Given the description of an element on the screen output the (x, y) to click on. 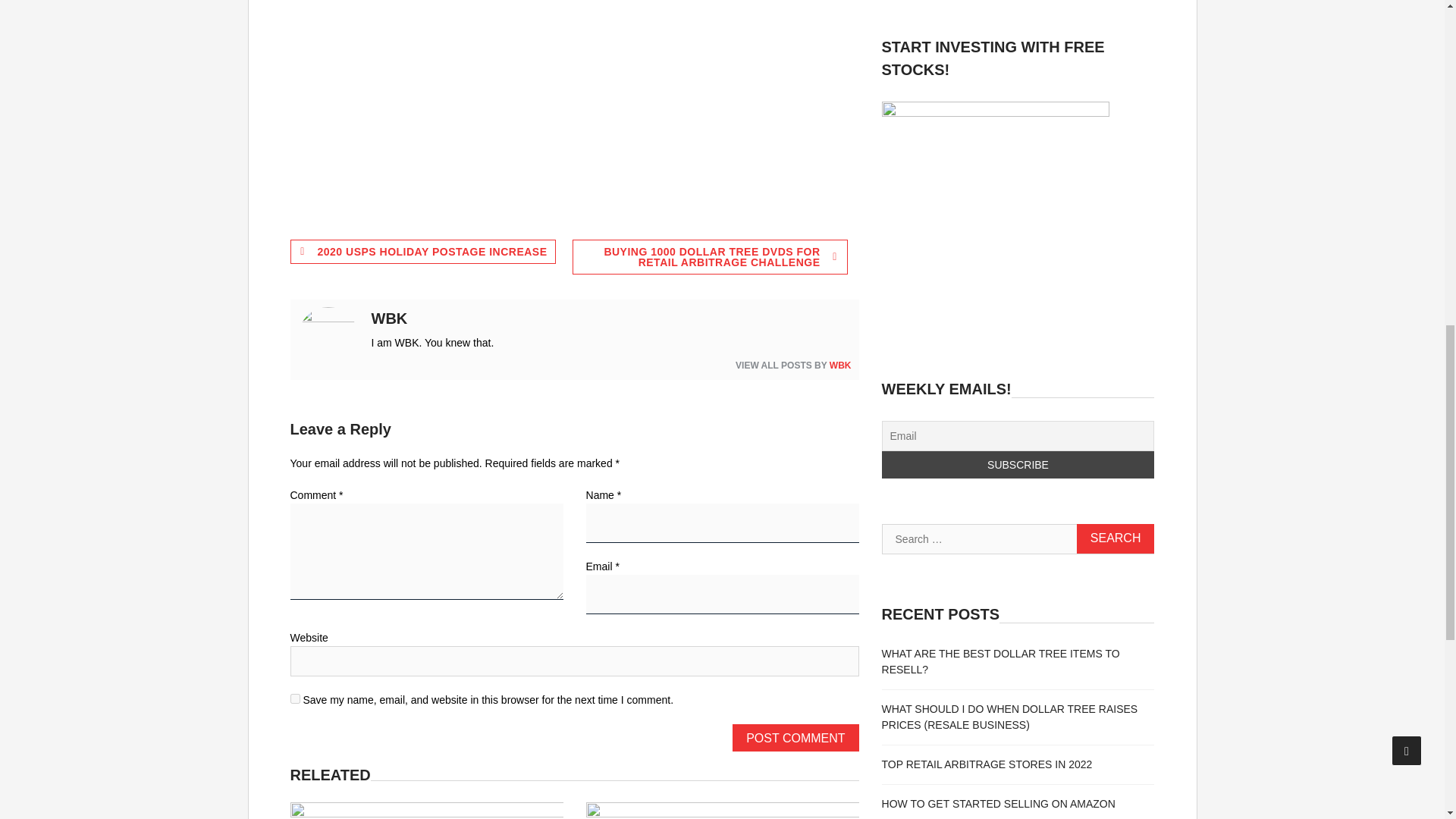
Search (1115, 538)
yes (294, 698)
Post Comment (795, 737)
Post Comment (795, 737)
WBK (840, 365)
Search (1115, 538)
WHAT ARE THE BEST DOLLAR TREE ITEMS TO RESELL? (1000, 661)
Search (1115, 538)
Subscribe (1018, 464)
TOP RETAIL ARBITRAGE STORES IN 2022 (987, 764)
BUYING 1000 DOLLAR TREE DVDS FOR RETAIL ARBITRAGE CHALLENGE (709, 256)
Subscribe (1018, 464)
2020 USPS HOLIDAY POSTAGE INCREASE (421, 251)
